Given the description of an element on the screen output the (x, y) to click on. 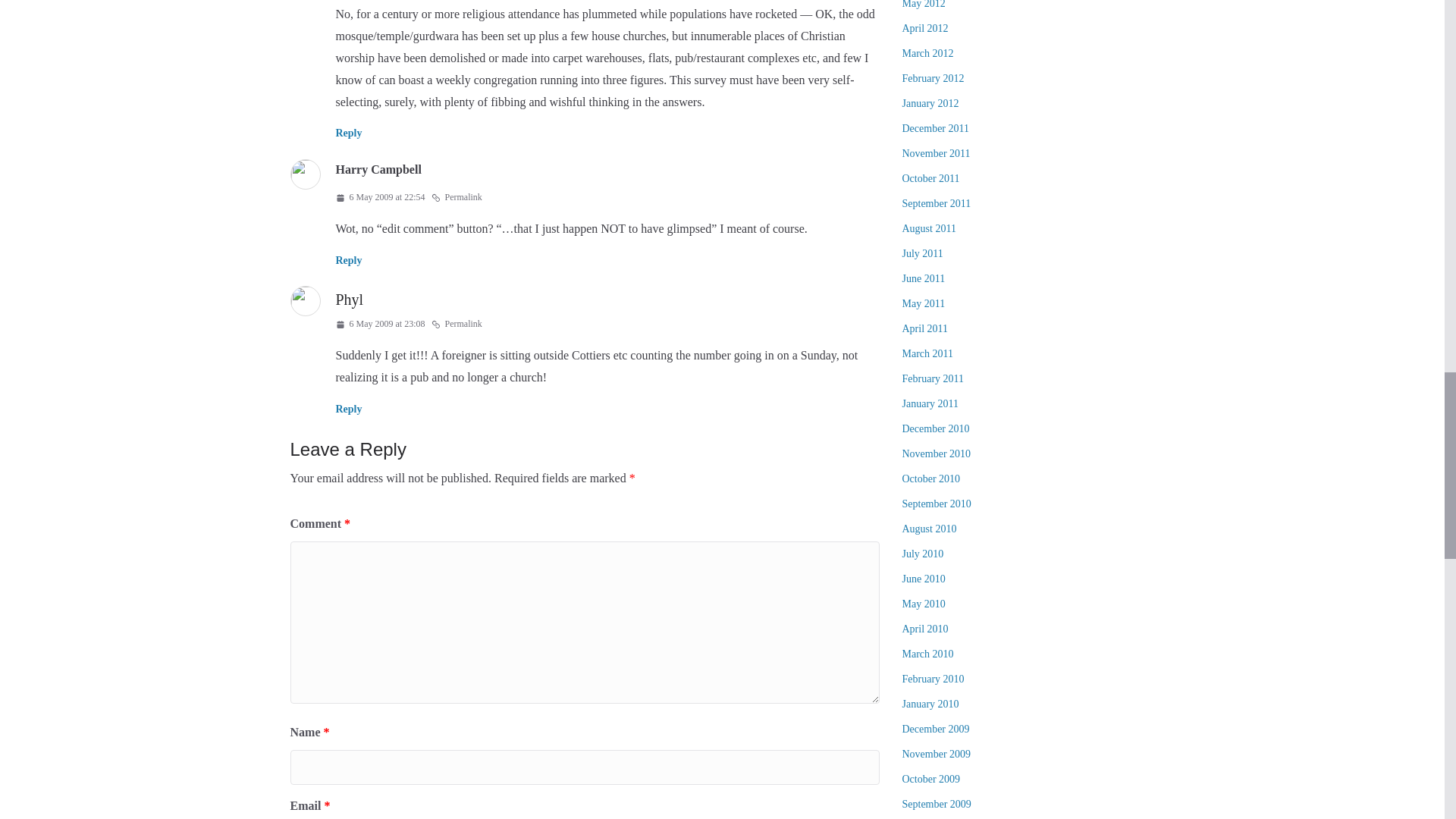
Reply (347, 408)
Reply (347, 132)
Phyl (348, 299)
Permalink (455, 197)
Permalink (455, 324)
Reply (347, 260)
